Given the description of an element on the screen output the (x, y) to click on. 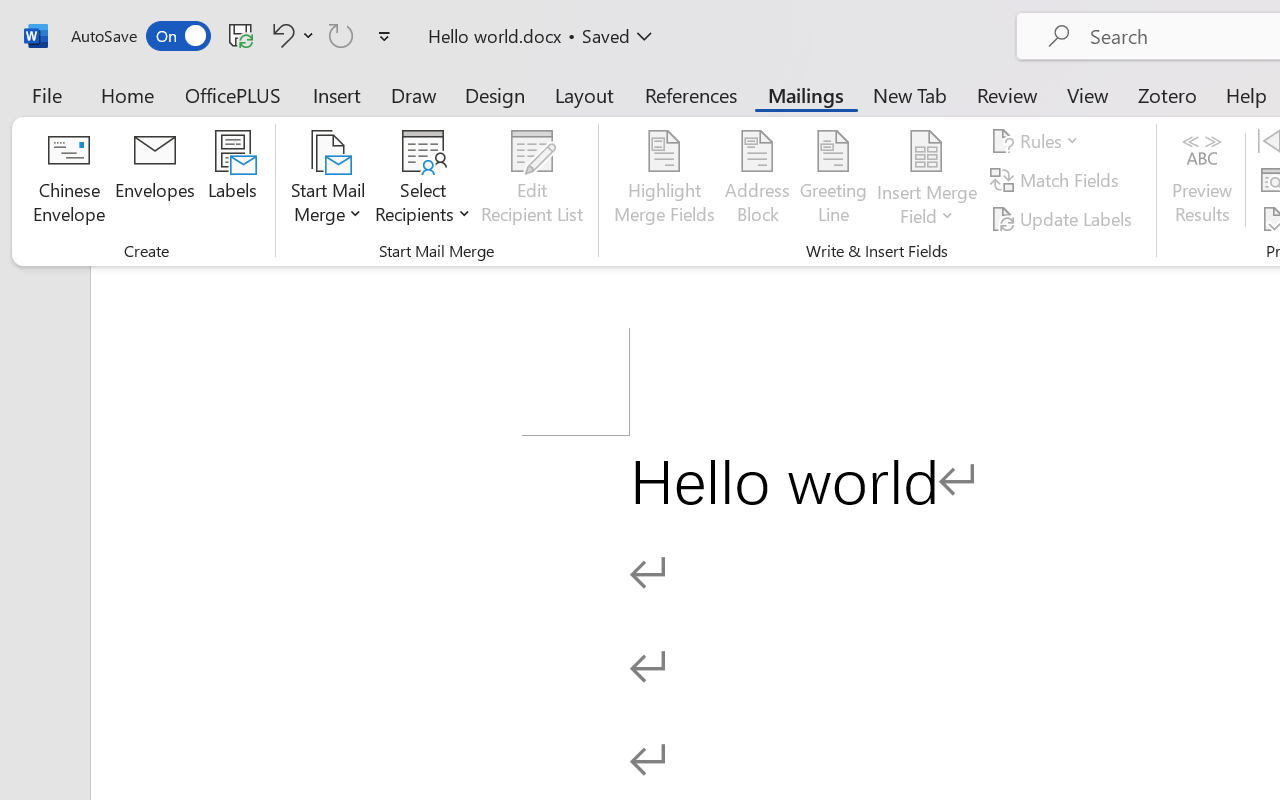
New Tab (909, 94)
Start Mail Merge (328, 179)
Design (495, 94)
Mailings (806, 94)
Greeting Line... (833, 179)
Customize Quick Access Toolbar (384, 35)
File Tab (46, 94)
Zotero (1166, 94)
Labels... (232, 179)
Insert Merge Field (927, 179)
Match Fields... (1057, 179)
Preview Results (1202, 179)
OfficePLUS (233, 94)
Undo Click and Type Formatting (290, 35)
